Given the description of an element on the screen output the (x, y) to click on. 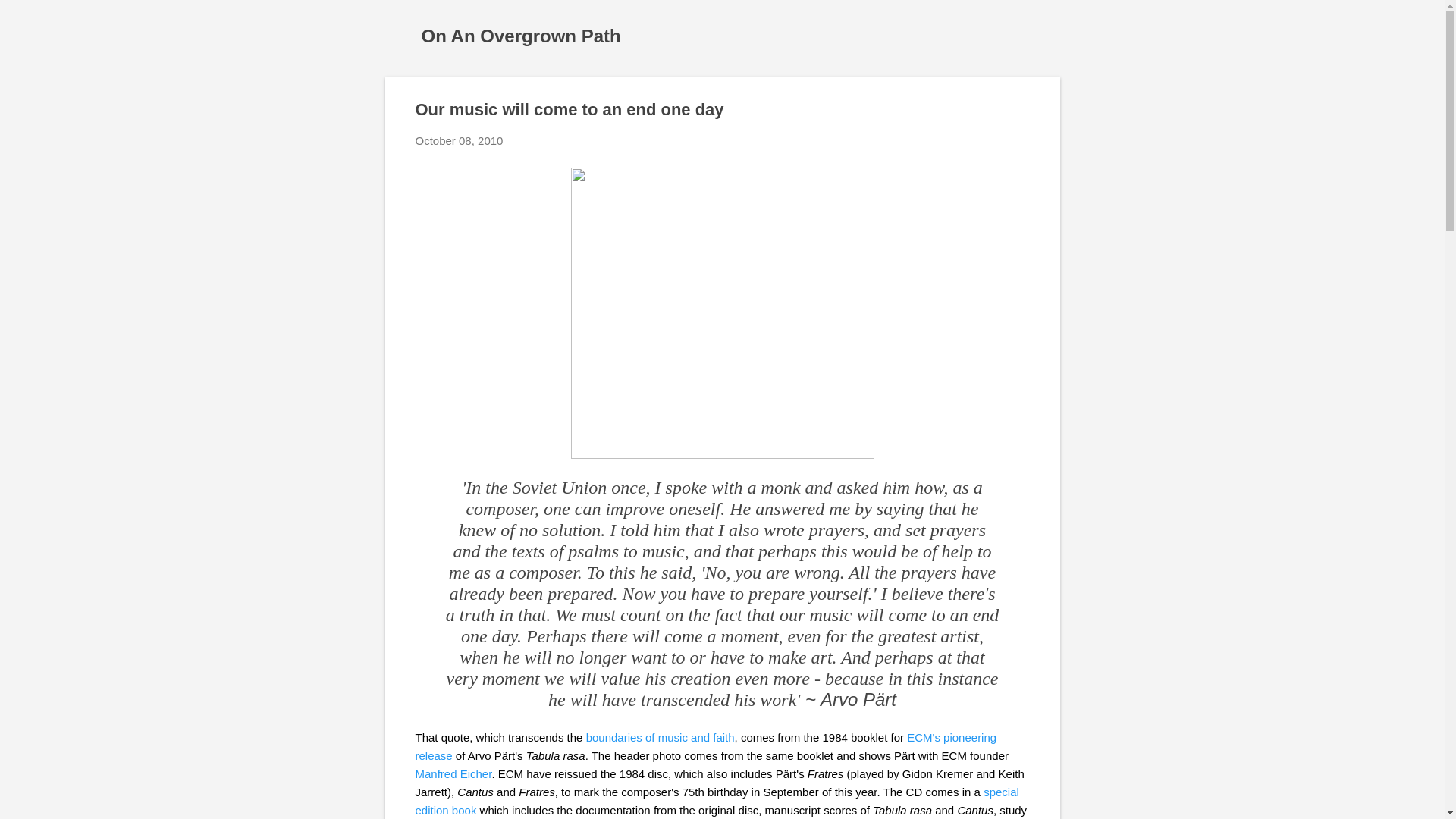
special edition book (716, 800)
ECM's pioneering release (705, 746)
permanent link (458, 140)
On An Overgrown Path (521, 35)
October 08, 2010 (458, 140)
boundaries of music and faith (660, 737)
Manfred Eicher (453, 773)
Search (29, 18)
